Given the description of an element on the screen output the (x, y) to click on. 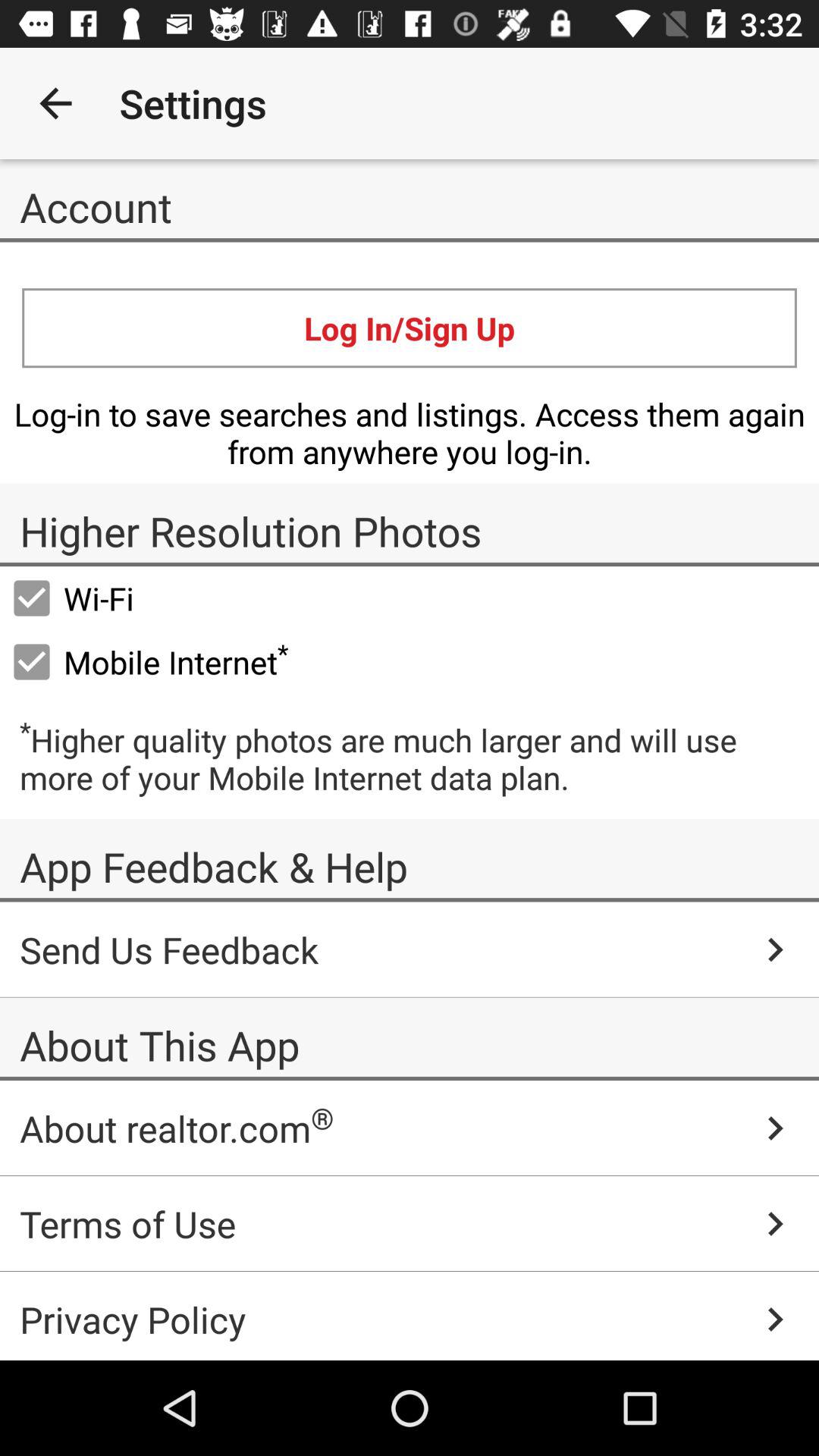
click the icon next to settings (639, 103)
